Given the description of an element on the screen output the (x, y) to click on. 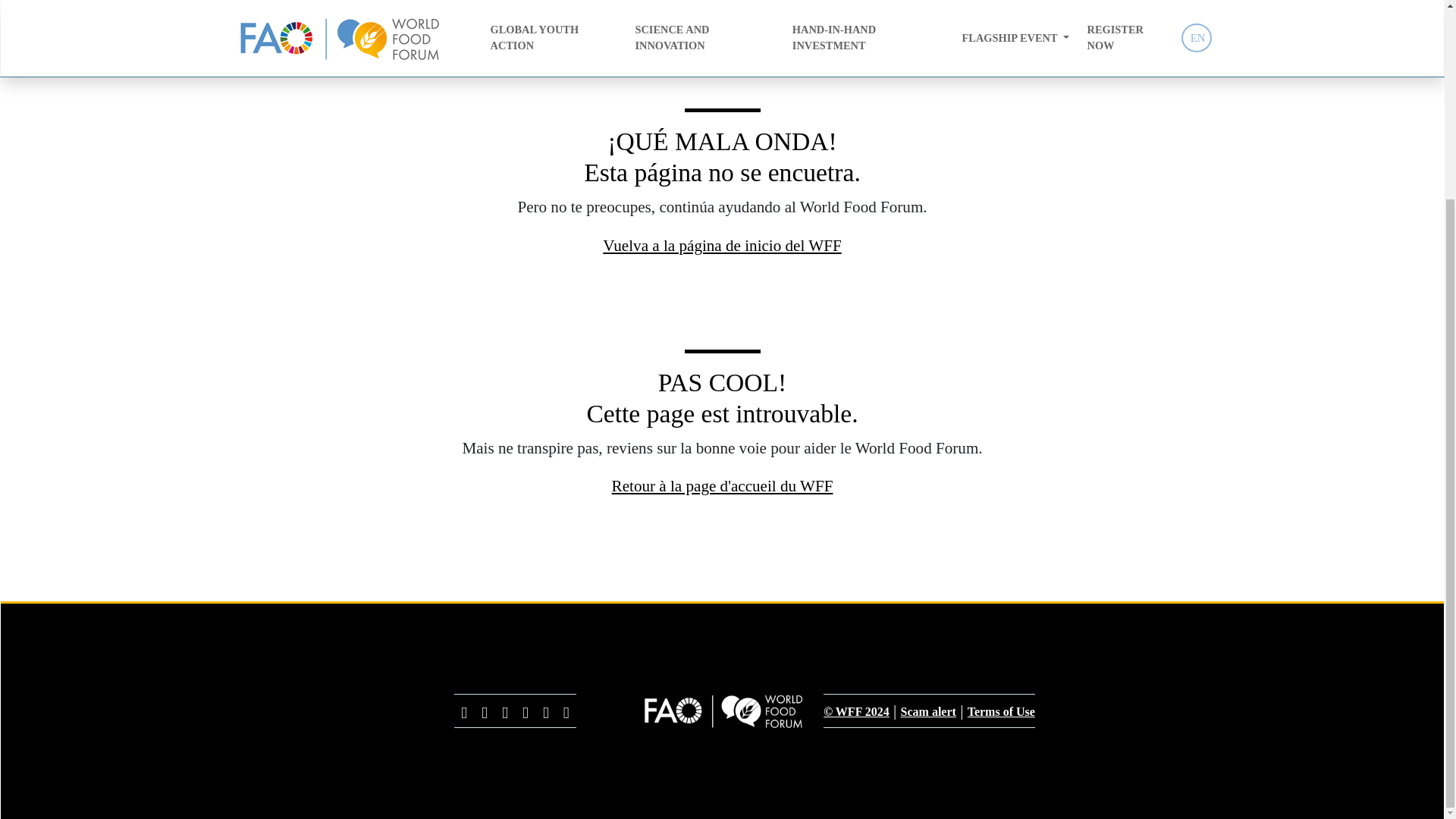
Instagram (505, 710)
Tiktok (545, 710)
Scam alert (928, 711)
Scam alert (928, 711)
Terms of Use (1001, 711)
Terms of Use (1001, 711)
Facebook (484, 710)
Back to the WFF Homepage (721, 6)
Youtube (525, 710)
Twitter (464, 710)
Back to the WFF Homepage (721, 6)
LinkedIn (566, 710)
